Given the description of an element on the screen output the (x, y) to click on. 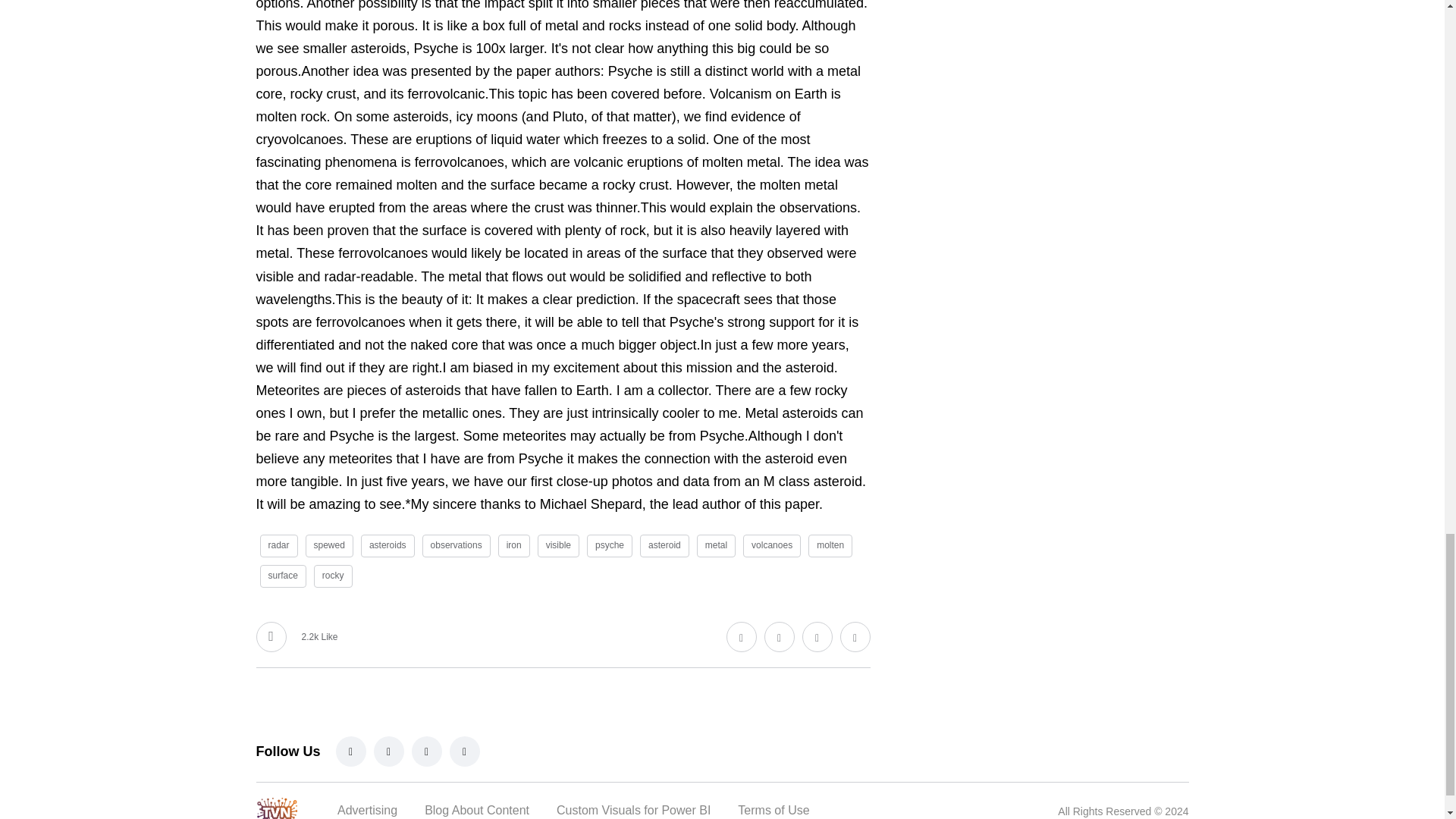
surface (282, 576)
spewed (329, 545)
iron (513, 545)
rocky (333, 576)
molten (829, 545)
2.2k Like (296, 636)
asteroids (387, 545)
asteroid (664, 545)
metal (716, 545)
observations (456, 545)
visible (558, 545)
psyche (608, 545)
radar (278, 545)
volcanoes (771, 545)
